Given the description of an element on the screen output the (x, y) to click on. 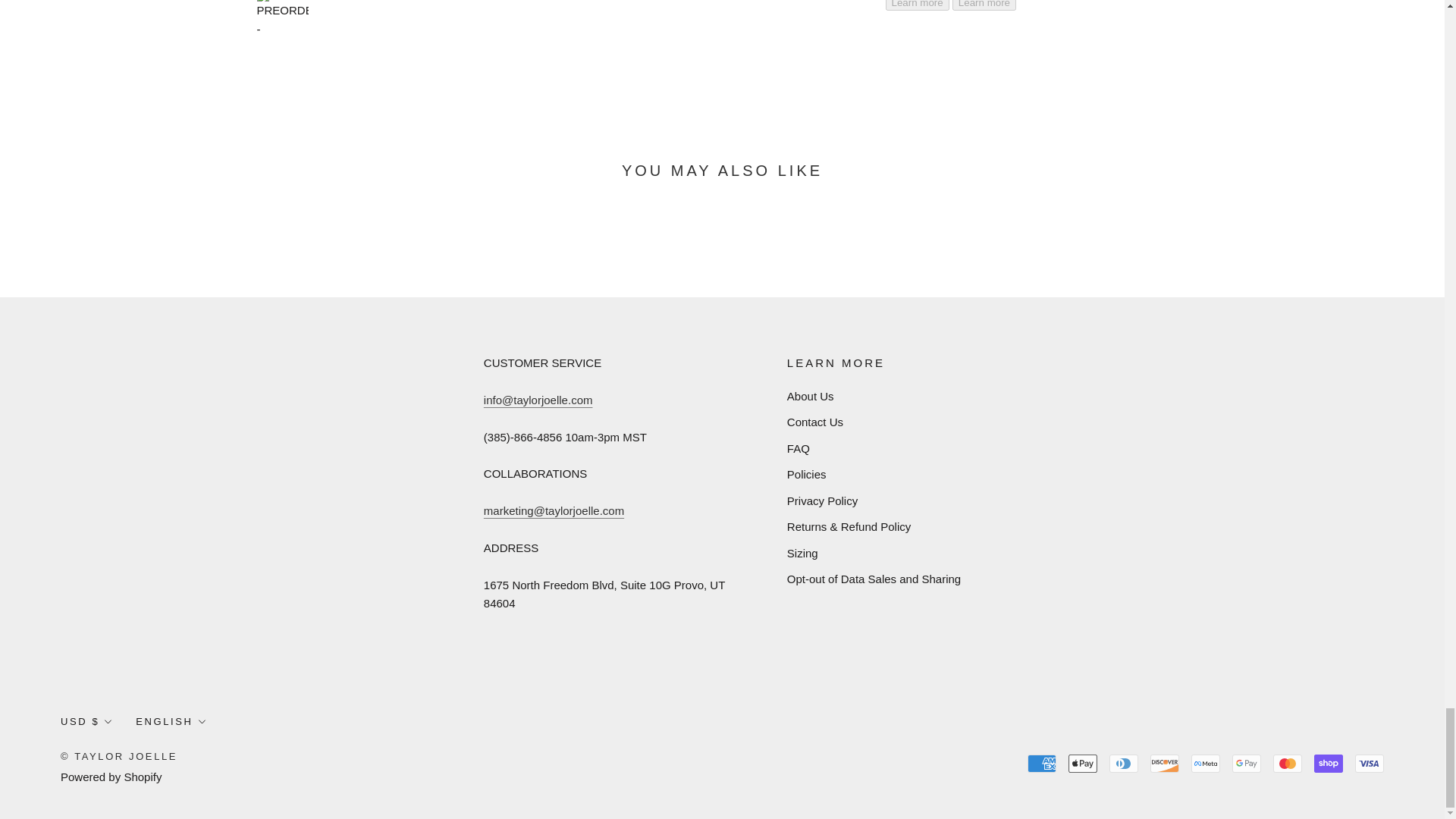
Mastercard (1286, 763)
Discover (1164, 763)
Visa (1369, 763)
American Express (1042, 763)
Apple Pay (1082, 763)
Google Pay (1245, 763)
Shop Pay (1328, 763)
Diners Club (1123, 763)
Meta Pay (1205, 763)
